Given the description of an element on the screen output the (x, y) to click on. 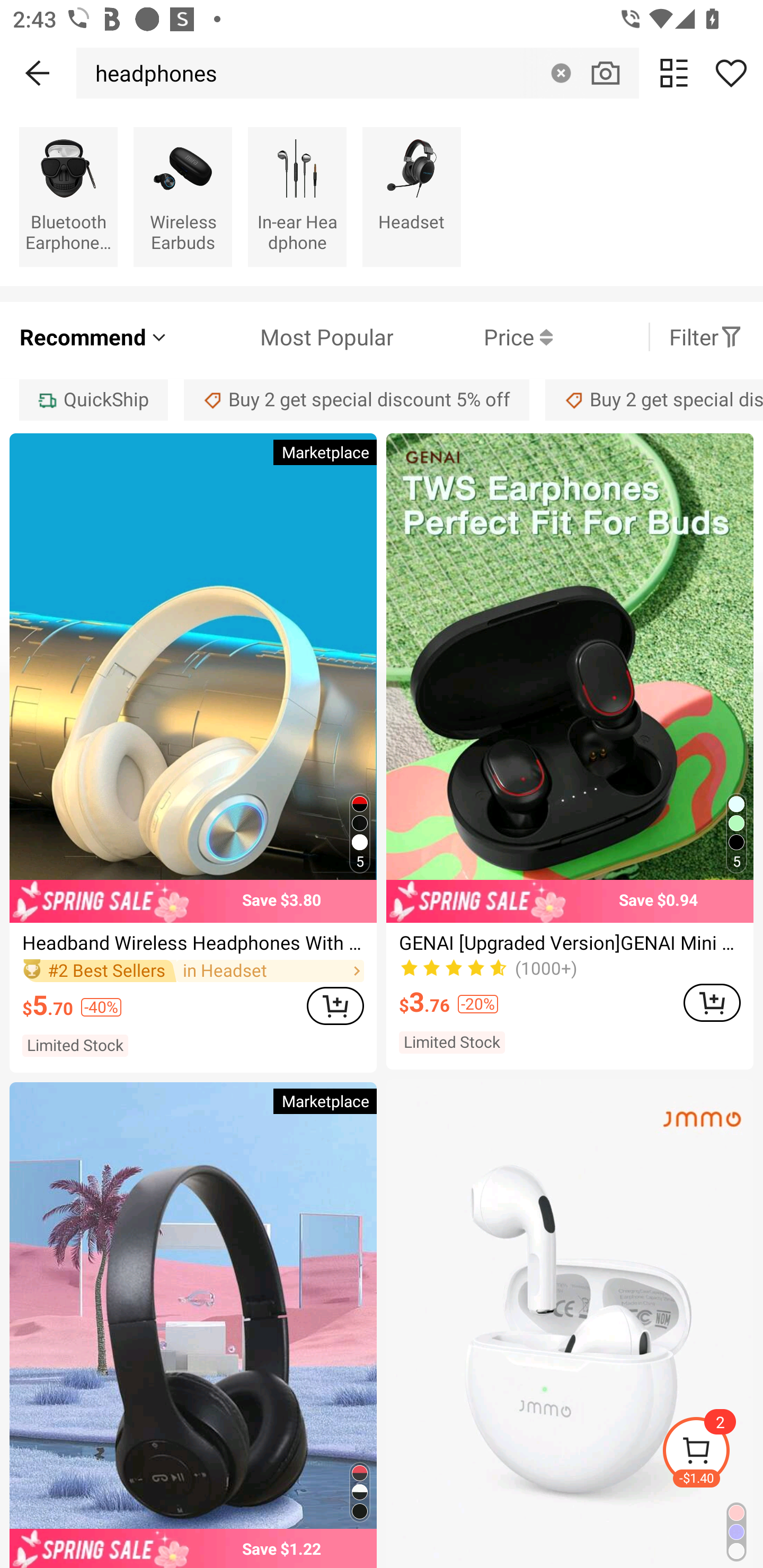
headphones (151, 72)
Clear (560, 72)
change view (673, 72)
Share (730, 72)
Bluetooth Earphone Cases (68, 196)
Wireless Earbuds (182, 196)
In-ear Headphone (296, 196)
Headset (411, 196)
Recommend (94, 336)
Most Popular (280, 336)
Price (472, 336)
Filter (705, 336)
QuickShip (93, 399)
Buy 2 get special discount 5% off (356, 399)
Buy 2 get special discount 5% off (654, 399)
#2 Best Sellers in Headset (192, 970)
ADD TO CART (711, 1002)
ADD TO CART (334, 1005)
-$1.40 (712, 1452)
